Given the description of an element on the screen output the (x, y) to click on. 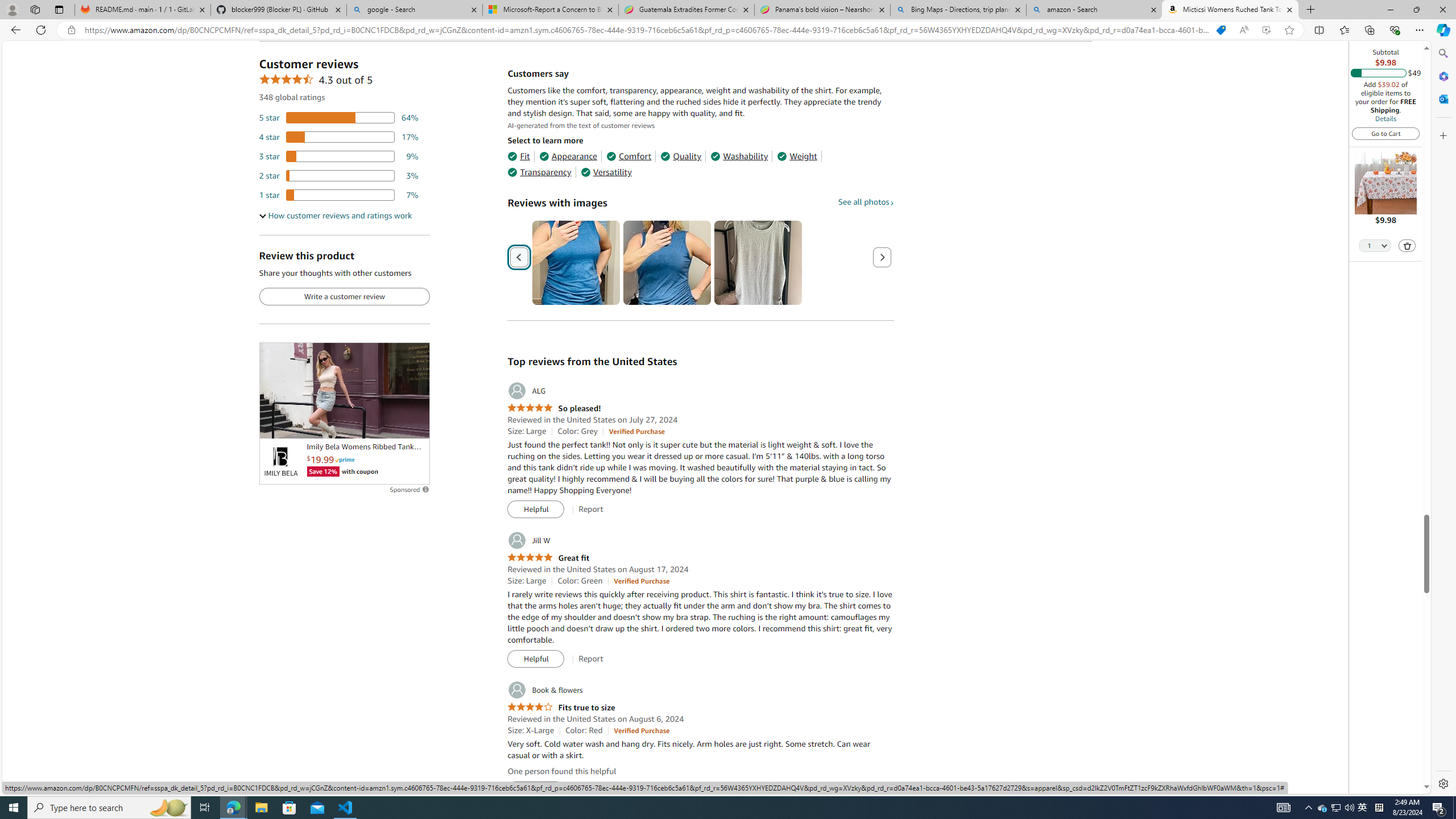
Transparency (539, 172)
Prime (344, 459)
Logo (280, 461)
Appearance (568, 156)
Sponsored ad (344, 390)
64 percent of reviews have 5 stars (339, 117)
Book & flowers (544, 690)
3 percent of reviews have 2 stars (339, 175)
Customer Image (758, 262)
